Given the description of an element on the screen output the (x, y) to click on. 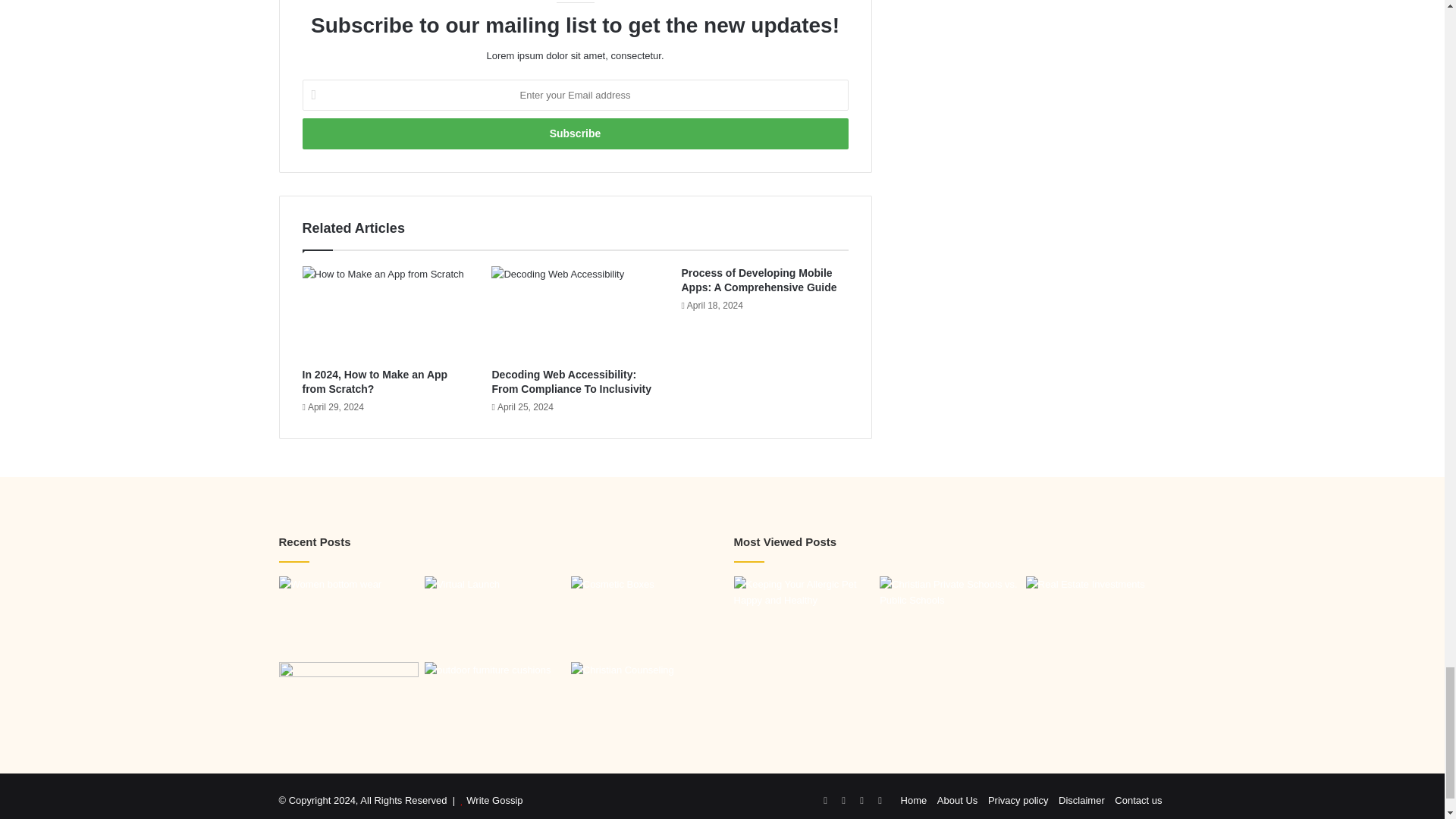
Subscribe (574, 133)
